Given the description of an element on the screen output the (x, y) to click on. 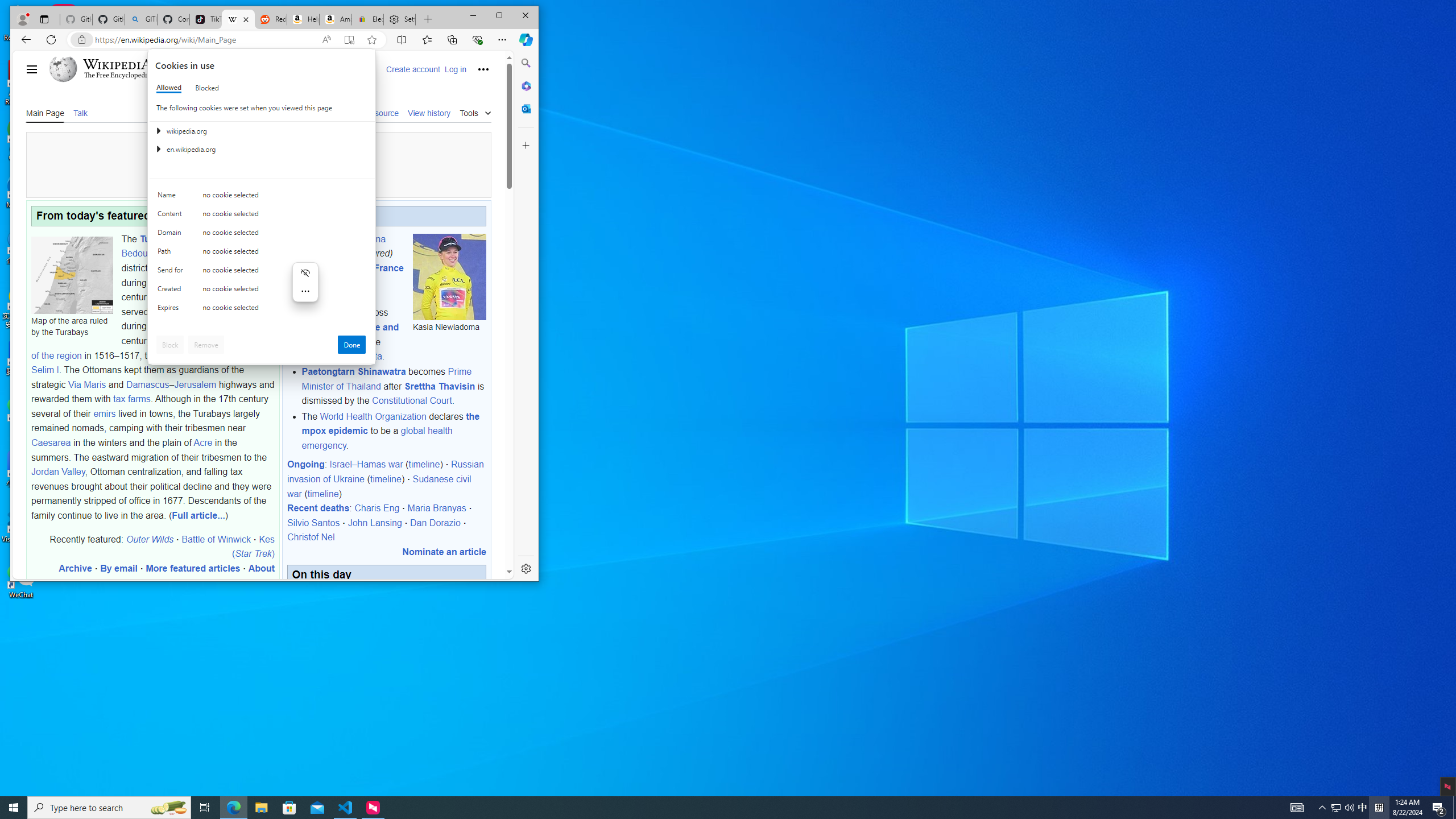
Path (172, 253)
Show desktop (1454, 807)
Blocked (206, 87)
Start (13, 807)
Send for (172, 272)
More actions (304, 290)
Expires (172, 310)
Tray Input Indicator - Chinese (Simplified, China) (1335, 807)
